Given the description of an element on the screen output the (x, y) to click on. 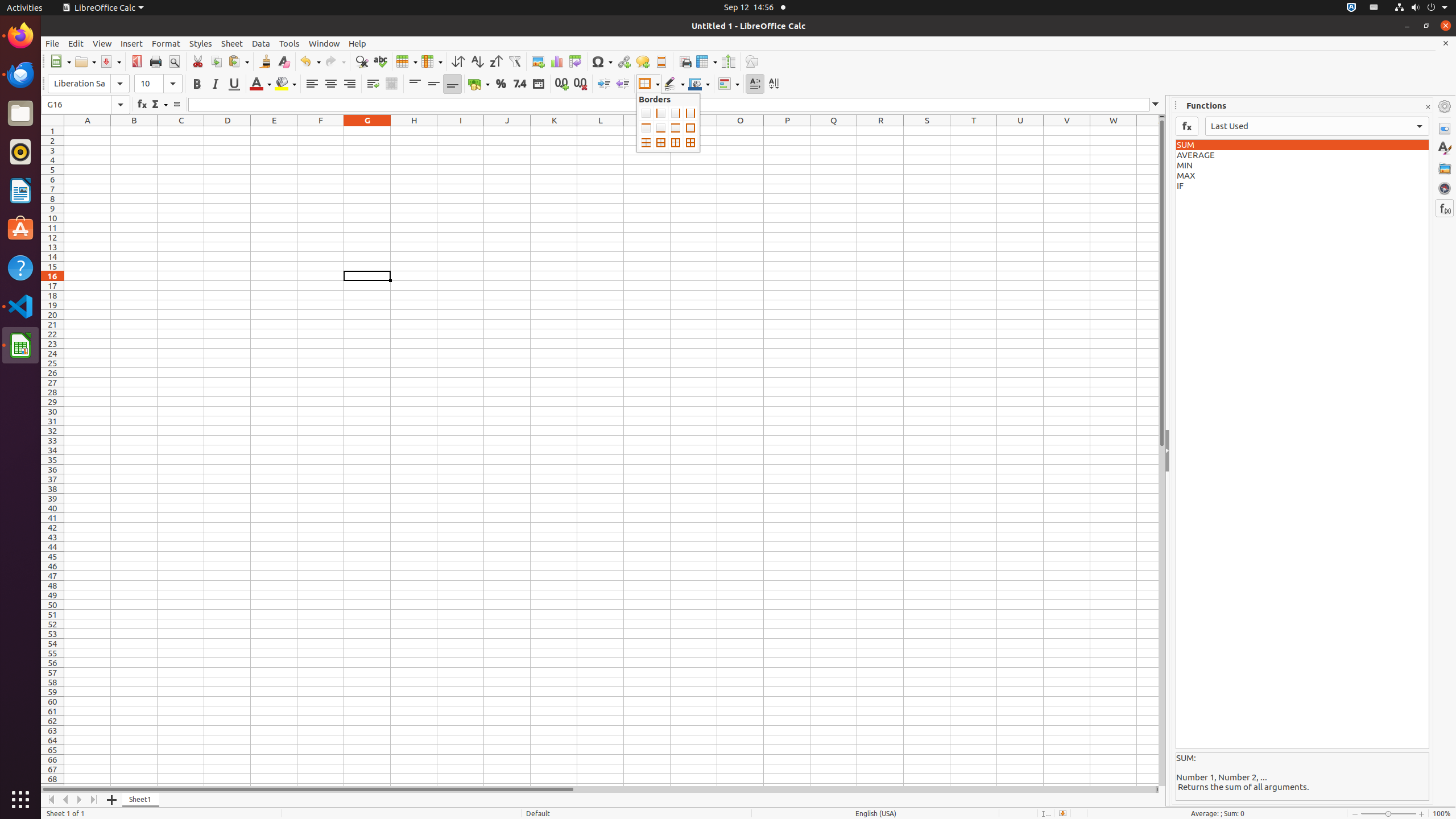
T1 Element type: table-cell (973, 130)
Show Applications Element type: toggle-button (20, 799)
E1 Element type: table-cell (273, 130)
AutoFilter Element type: push-button (514, 61)
